Given the description of an element on the screen output the (x, y) to click on. 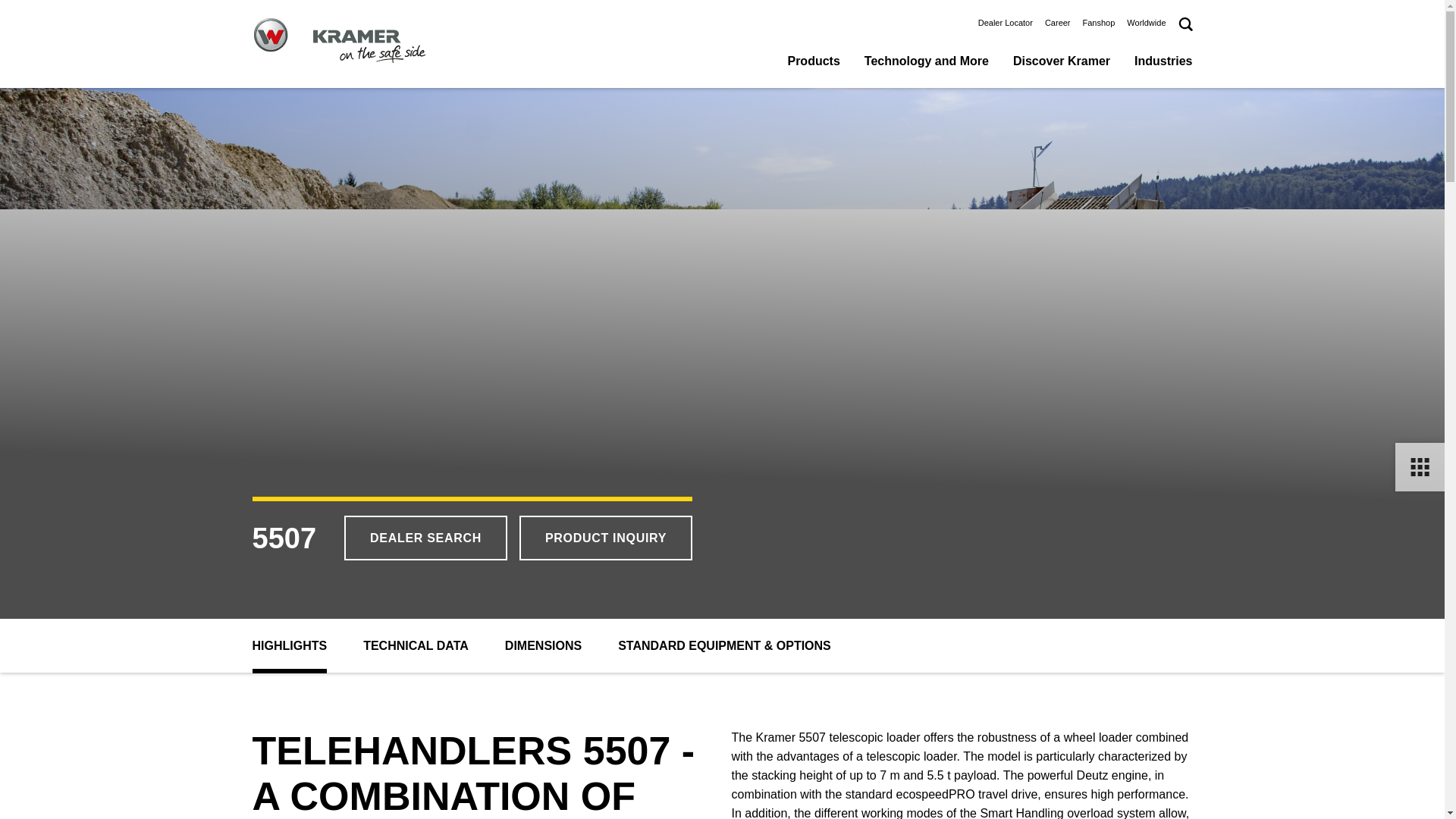
Dealer Locator (1005, 22)
Products (813, 62)
Technology and More (926, 62)
Worldwide (1146, 22)
Fanshop (1099, 22)
Dealer Locator (1005, 22)
Career (1057, 22)
Products (813, 62)
Technology and More (926, 62)
Career (1057, 22)
Worldwide (1146, 22)
Fanshop (1099, 22)
